Given the description of an element on the screen output the (x, y) to click on. 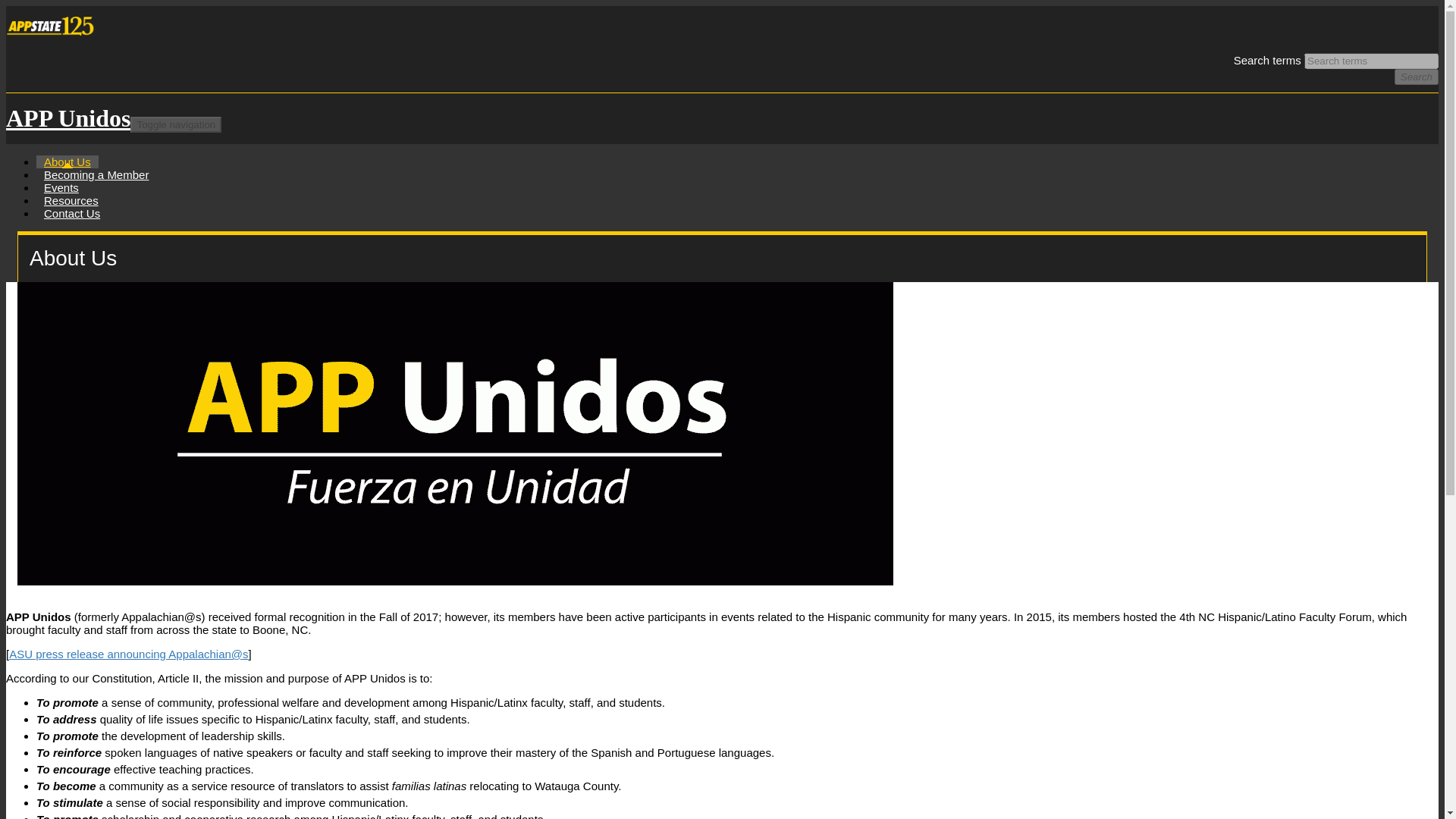
Contact Us (71, 213)
Home (68, 117)
Resources (71, 200)
About Us (67, 161)
Toggle navigation (176, 124)
APP Unidos (68, 117)
Becoming a Member (95, 174)
Appalachian State University (52, 38)
Events (60, 187)
